Given the description of an element on the screen output the (x, y) to click on. 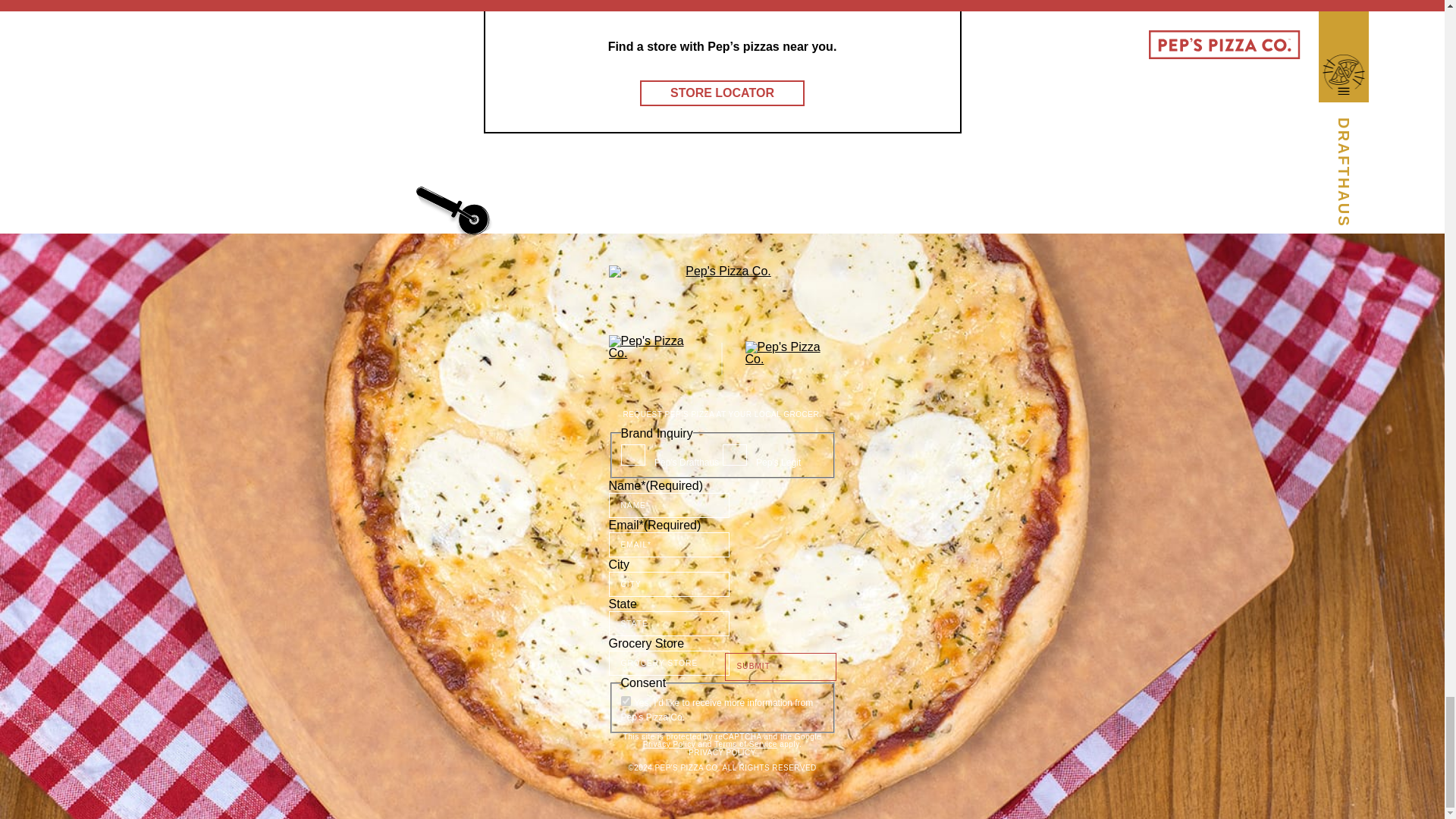
Pep's Pizza Co. (653, 358)
Pep's Pizza Co. (789, 358)
Submit (780, 666)
Pep's Pizza Co. (721, 286)
